Given the description of an element on the screen output the (x, y) to click on. 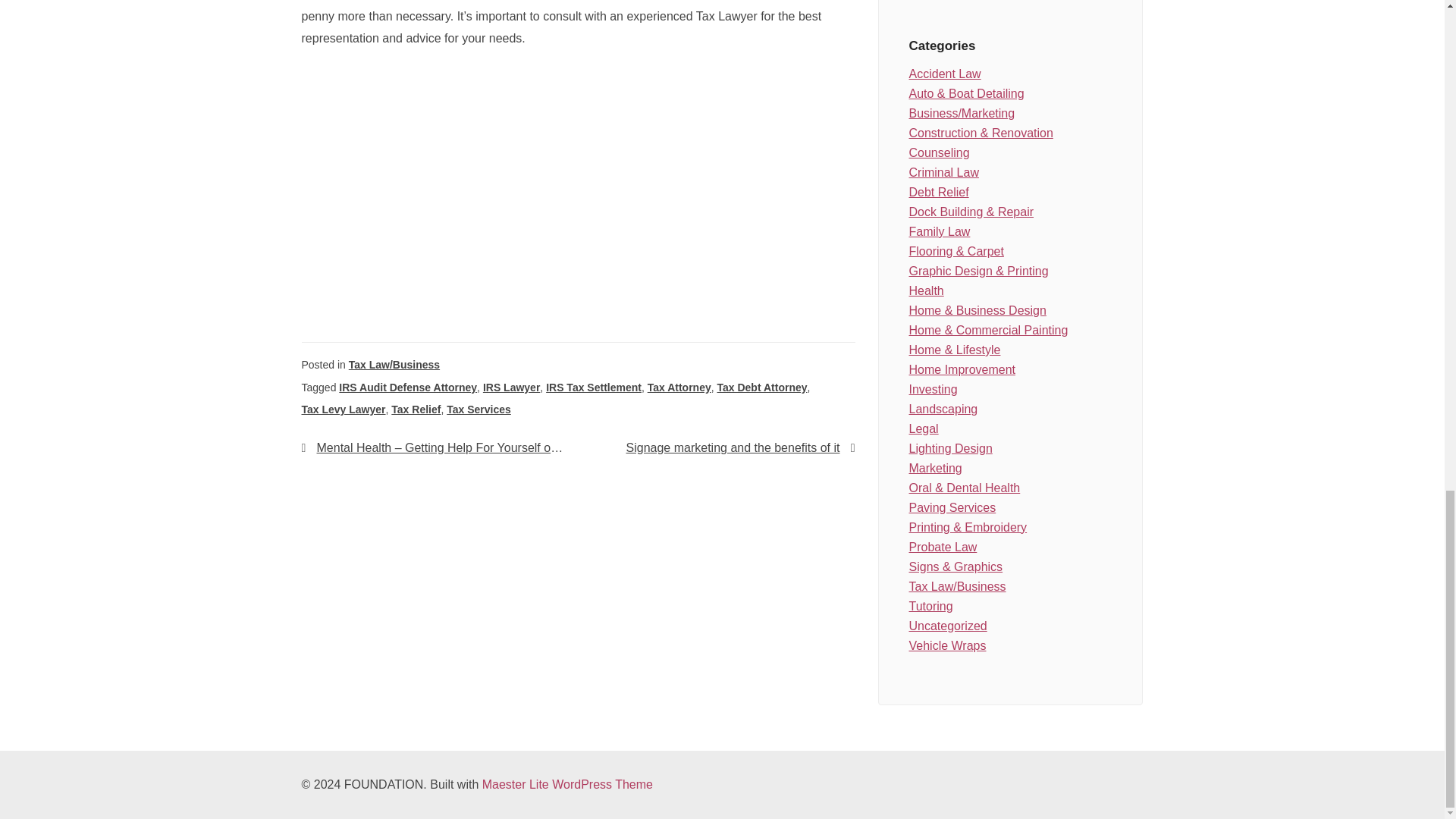
Tax Attorney (679, 387)
Tax Services (478, 409)
IRS Lawyer (511, 387)
Tax Levy Lawyer (343, 409)
Tax Debt Attorney (762, 387)
YouTube video player (513, 184)
IRS Audit Defense Attorney (408, 387)
IRS Tax Settlement (594, 387)
Signage marketing and the benefits of it (716, 447)
Tax Relief (416, 409)
